Given the description of an element on the screen output the (x, y) to click on. 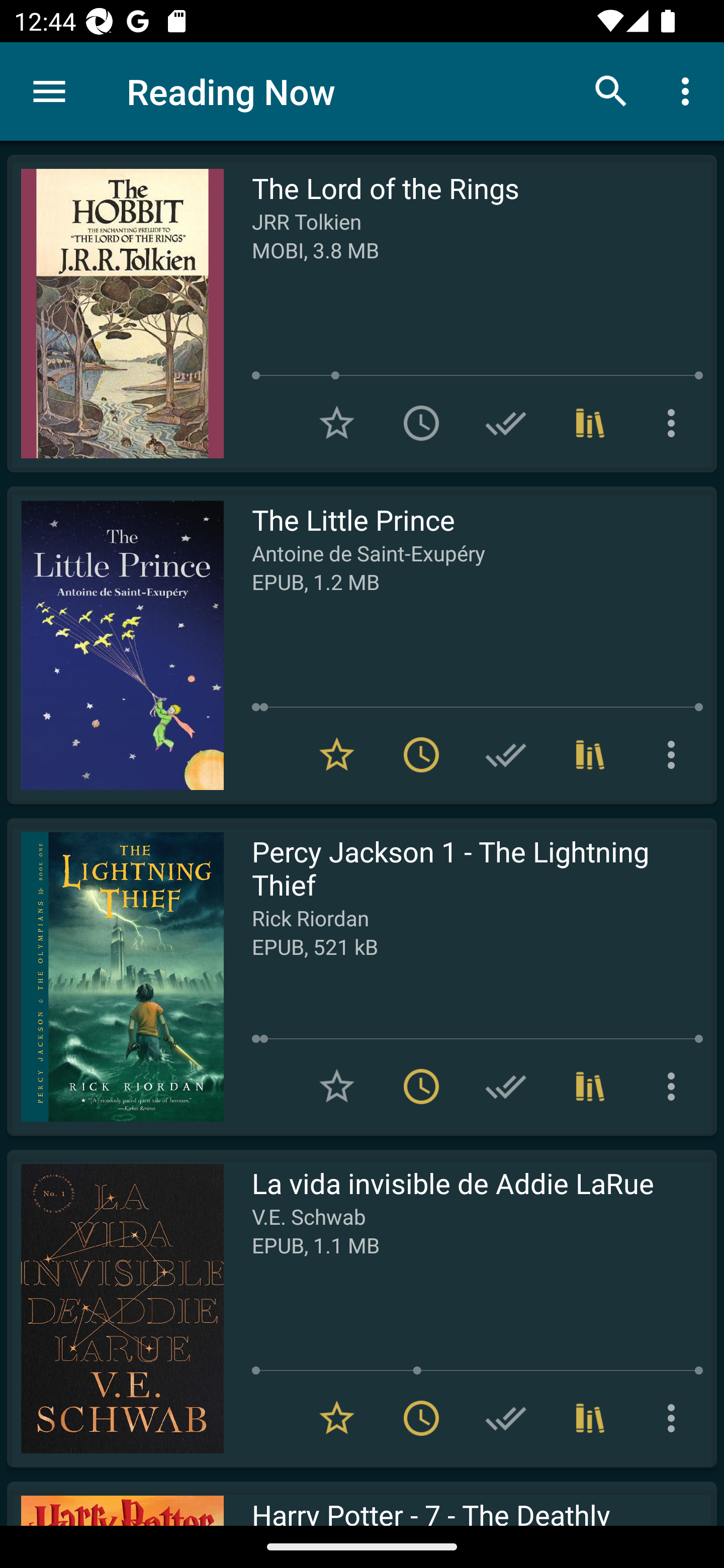
Menu (49, 91)
Search books & documents (611, 90)
More options (688, 90)
Read The Lord of the Rings (115, 313)
Add to Favorites (336, 423)
Add to To read (421, 423)
Add to Have read (505, 423)
Collections (1) (590, 423)
More options (674, 423)
Read The Little Prince (115, 645)
Remove from Favorites (336, 753)
Remove from To read (421, 753)
Add to Have read (505, 753)
Collections (1) (590, 753)
More options (674, 753)
Read Percy Jackson 1 - The Lightning Thief (115, 976)
Add to Favorites (336, 1086)
Remove from To read (421, 1086)
Add to Have read (505, 1086)
Collections (1) (590, 1086)
More options (674, 1086)
Read La vida invisible de Addie LaRue (115, 1308)
Remove from Favorites (336, 1417)
Remove from To read (421, 1417)
Add to Have read (505, 1417)
Collections (1) (590, 1417)
More options (674, 1417)
